Given the description of an element on the screen output the (x, y) to click on. 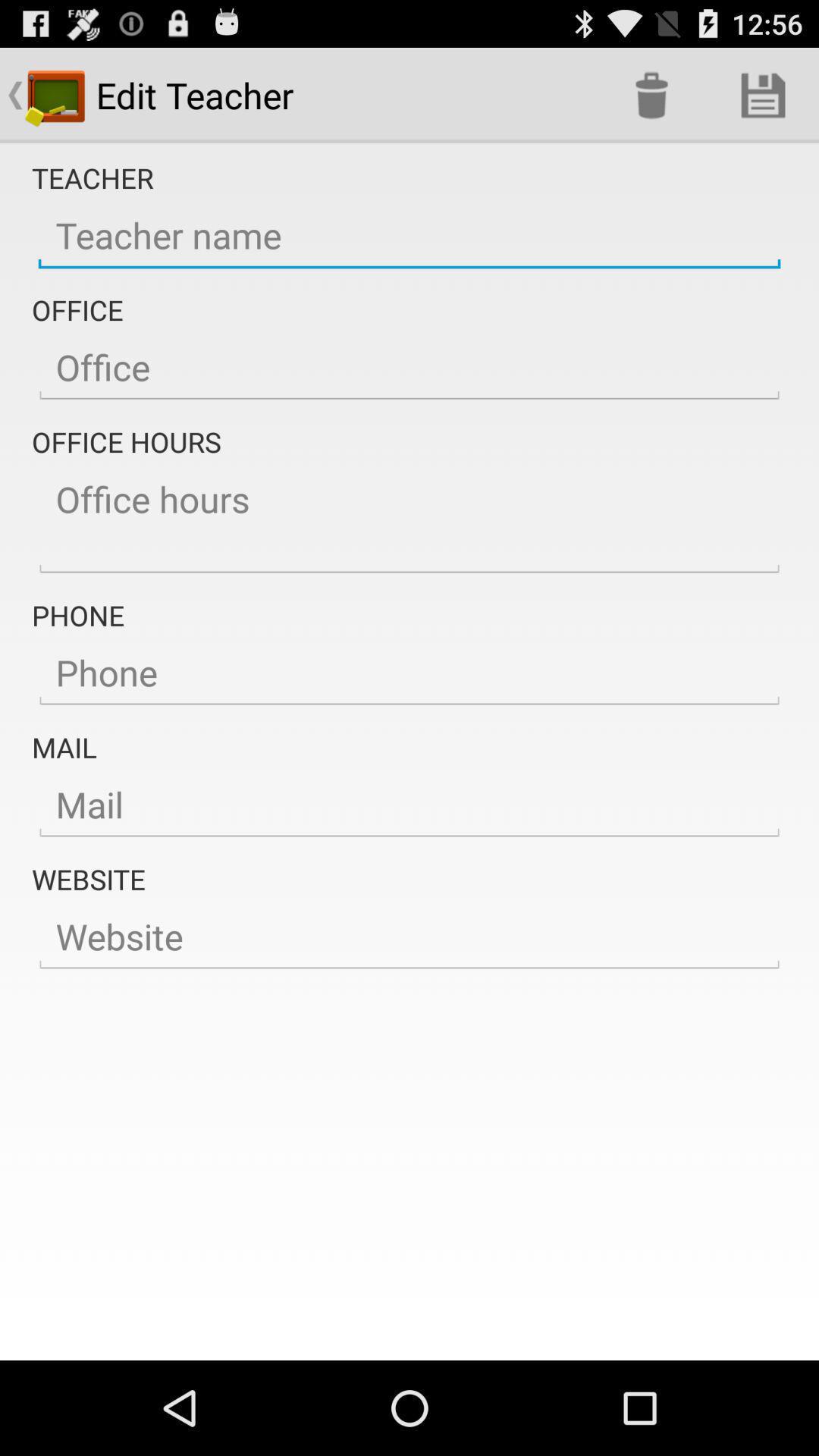
input office hours (409, 520)
